Given the description of an element on the screen output the (x, y) to click on. 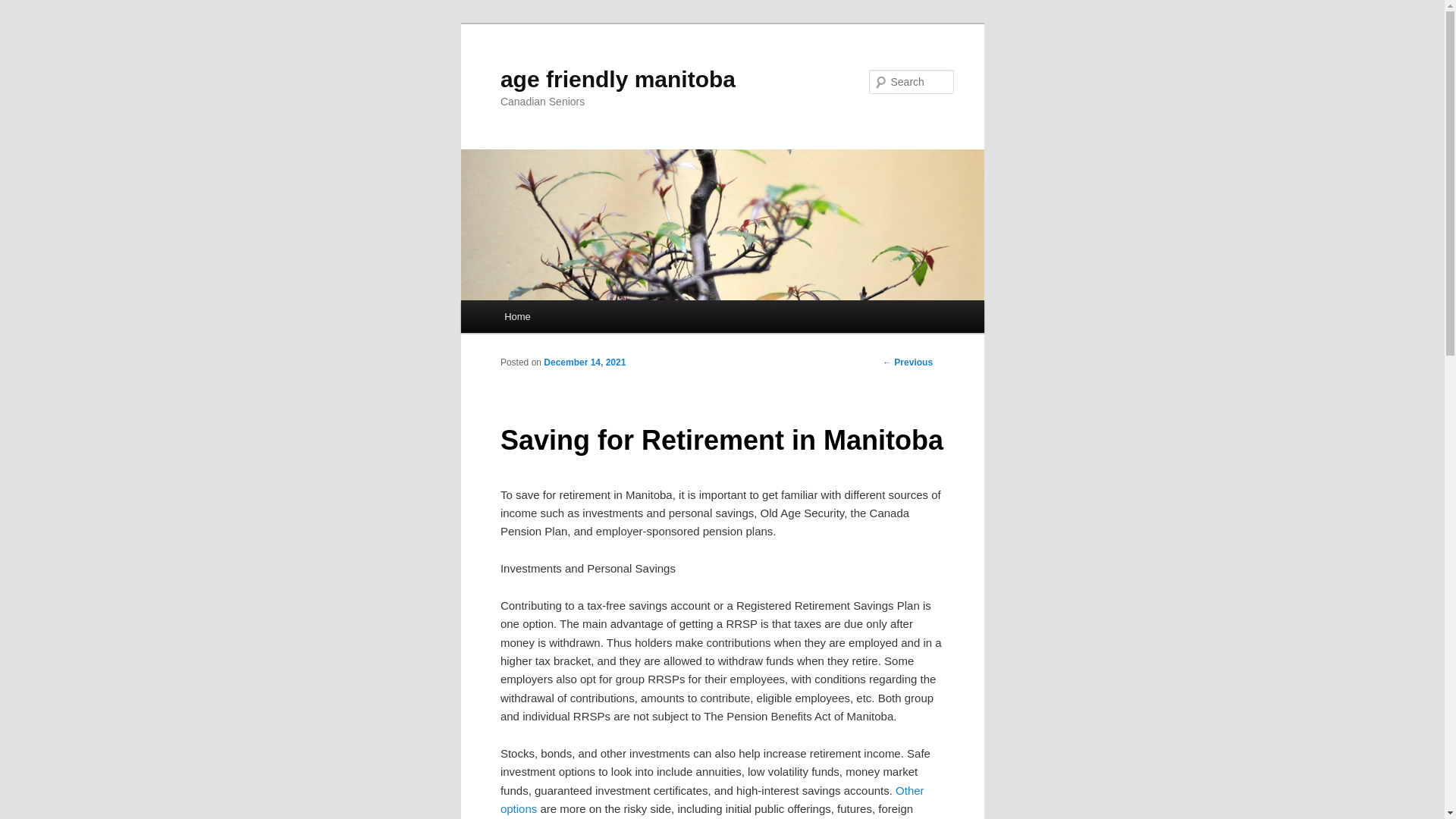
Other options Element type: text (712, 799)
Search Element type: text (24, 8)
December 14, 2021 Element type: text (584, 362)
age friendly manitoba Element type: text (617, 78)
Home Element type: text (517, 316)
Skip to primary content Element type: text (22, 22)
